Given the description of an element on the screen output the (x, y) to click on. 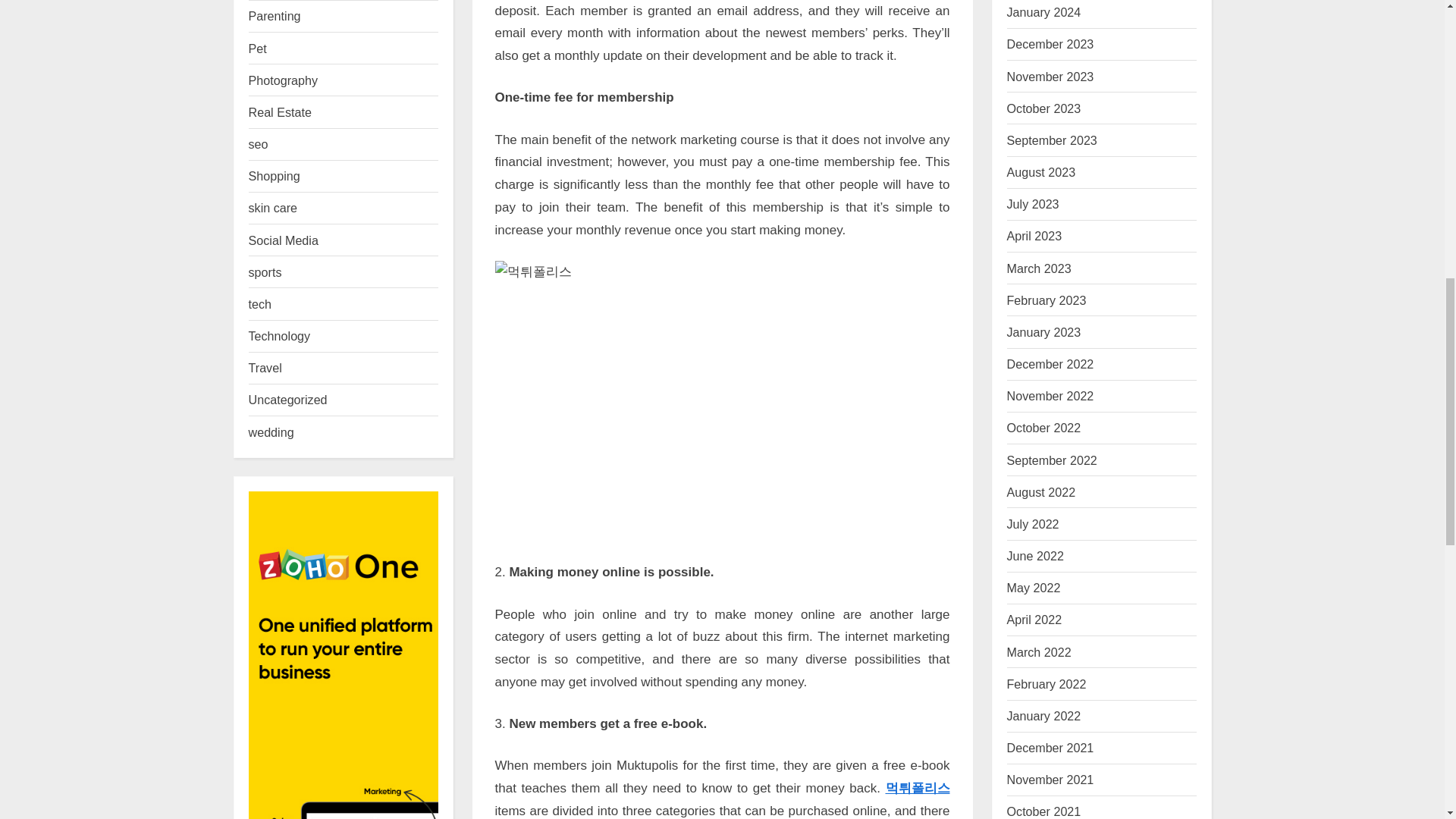
Parenting (274, 15)
